Given the description of an element on the screen output the (x, y) to click on. 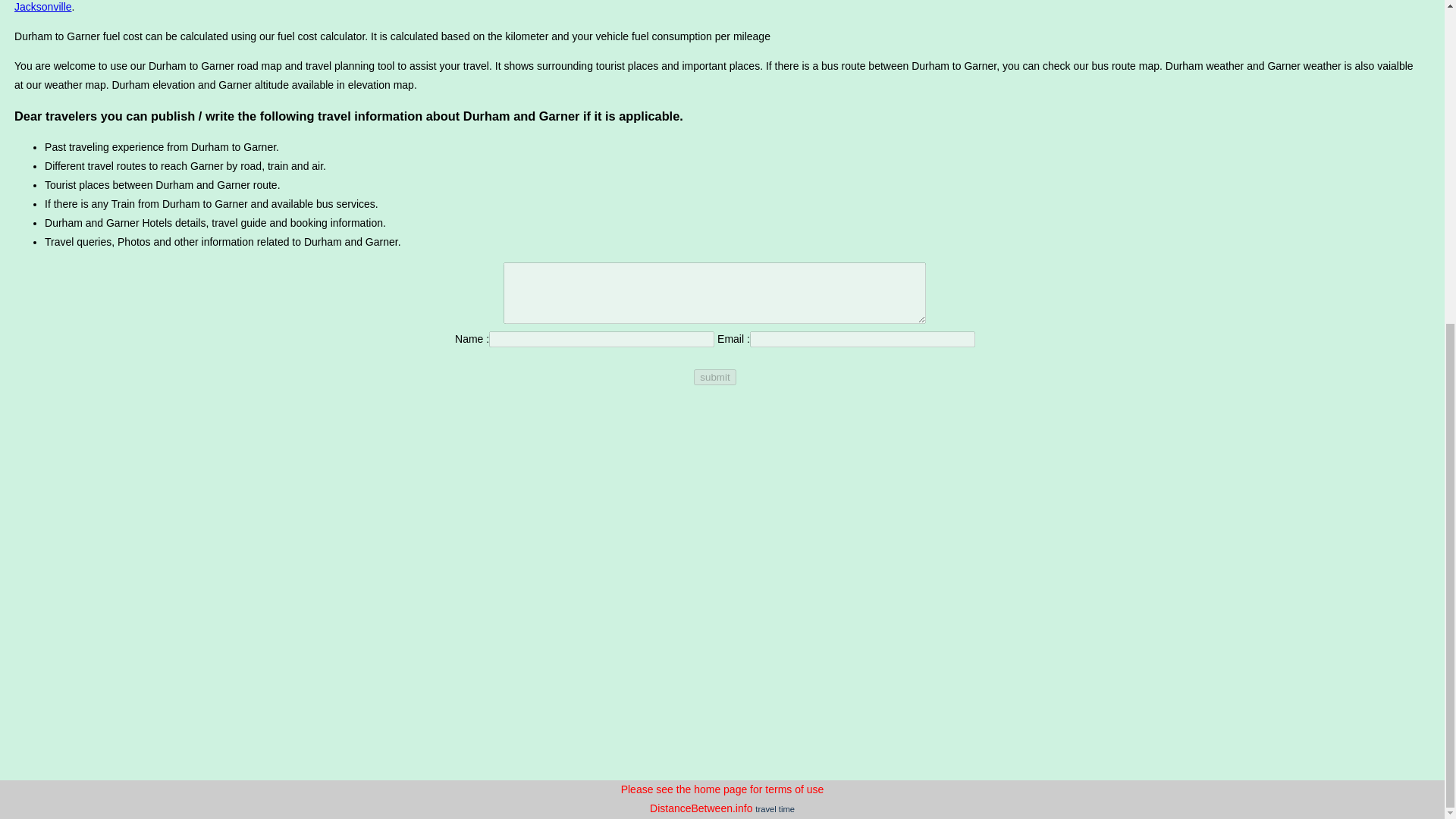
travel time (774, 809)
submit (714, 376)
submit (714, 376)
